Given the description of an element on the screen output the (x, y) to click on. 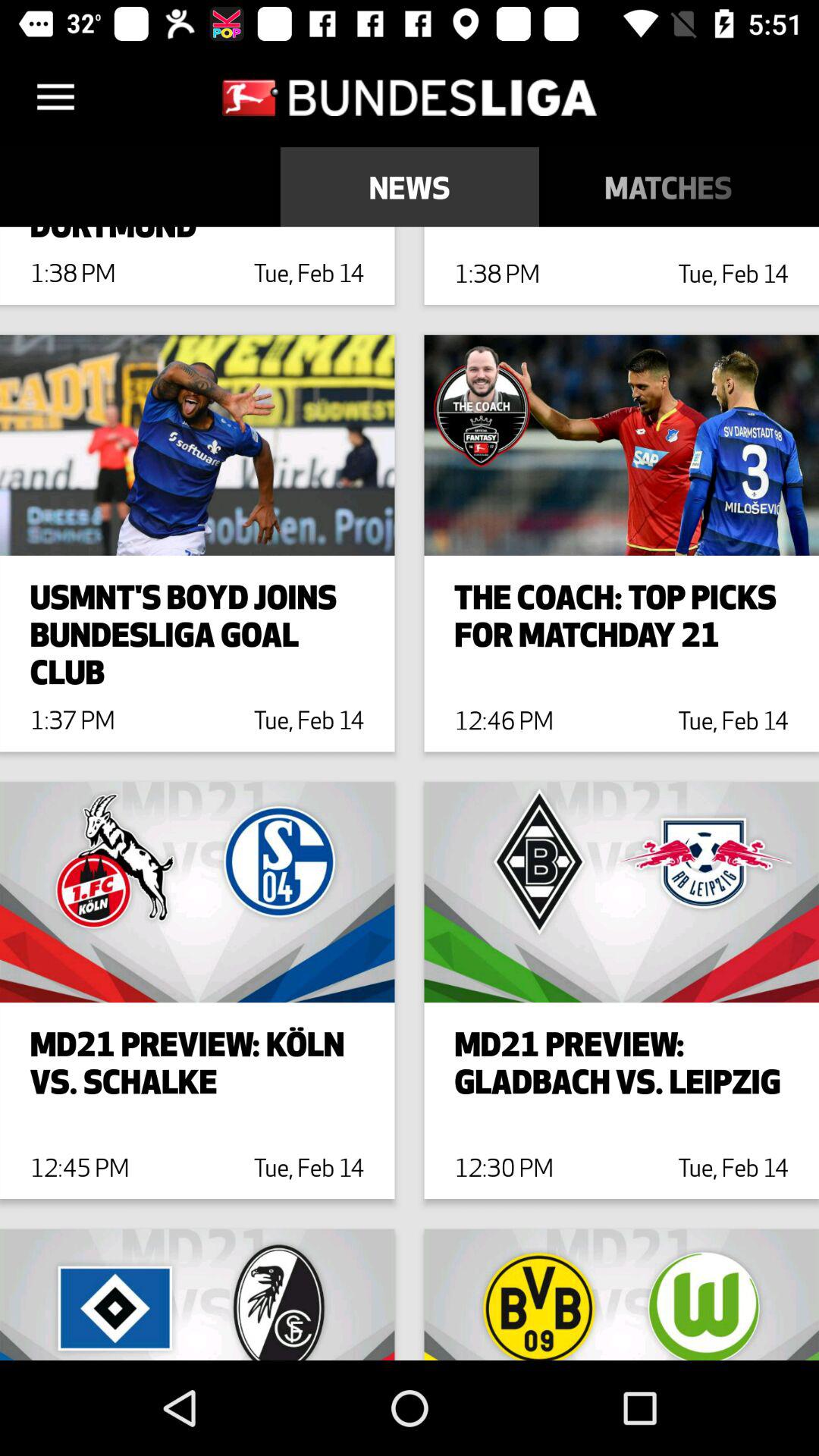
turn off icon next to the news (668, 186)
